Given the description of an element on the screen output the (x, y) to click on. 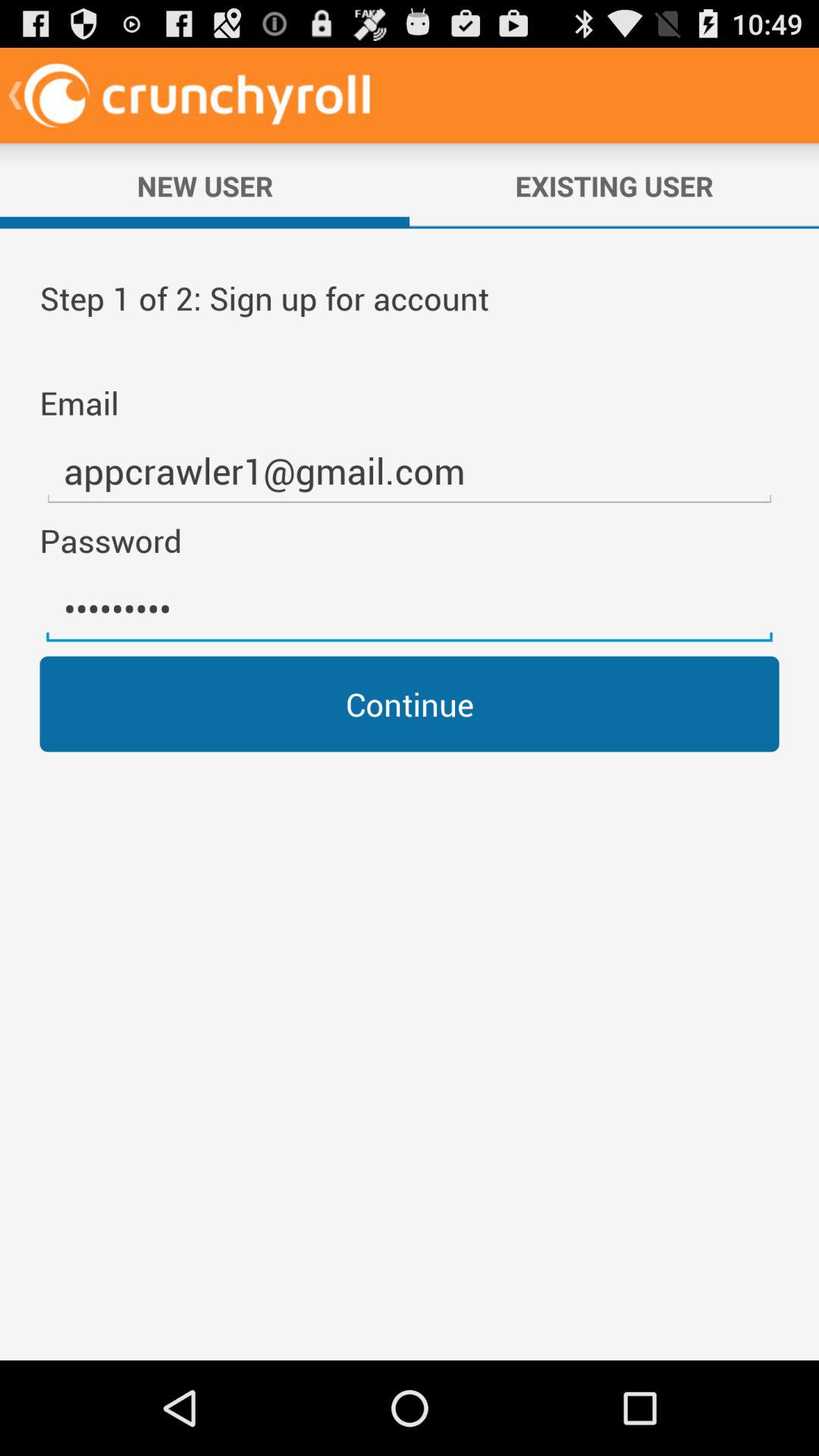
turn on icon next to the existing user item (204, 185)
